Given the description of an element on the screen output the (x, y) to click on. 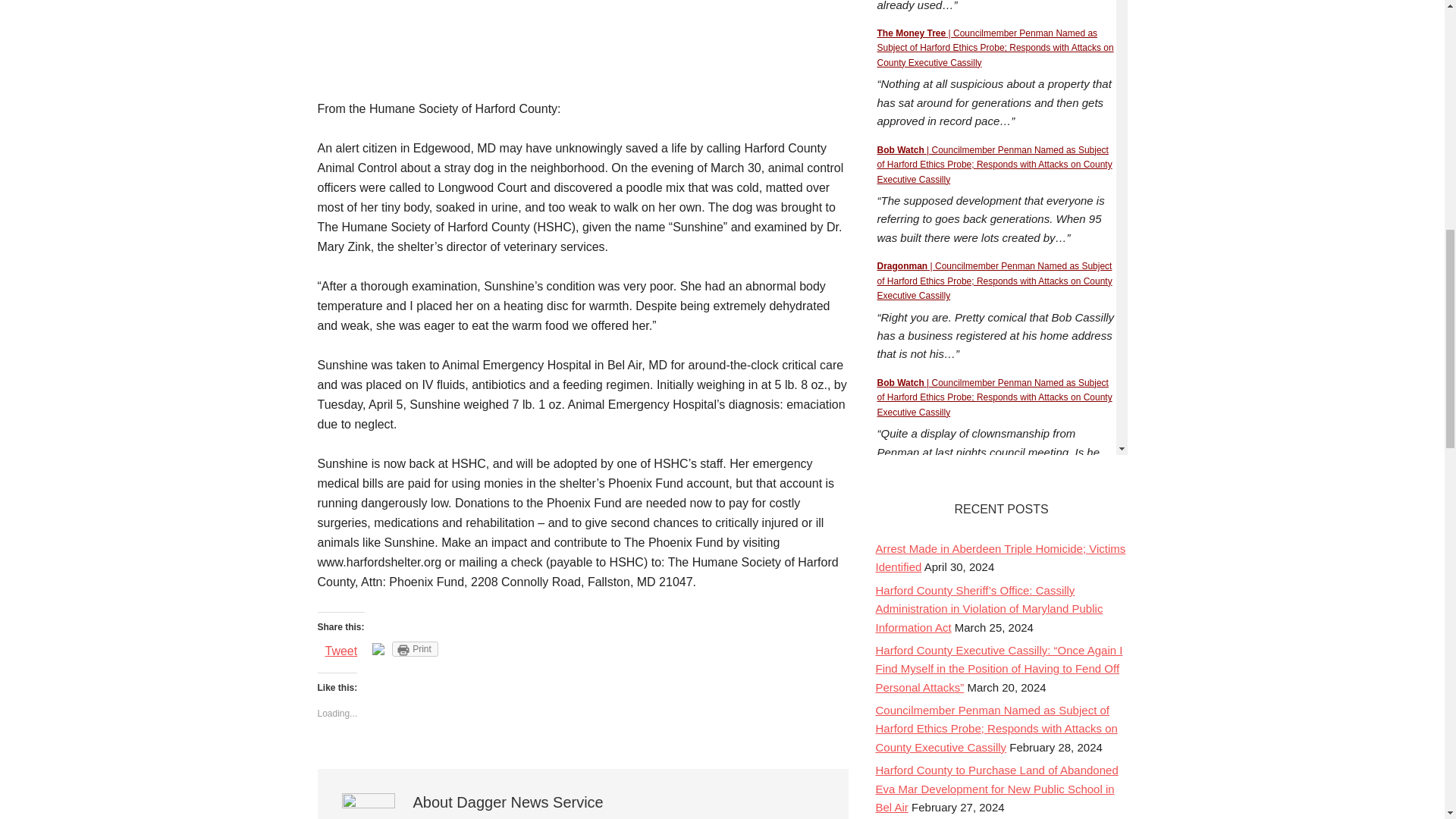
Print (414, 648)
Click to print (414, 648)
Tweet (340, 650)
